Given the description of an element on the screen output the (x, y) to click on. 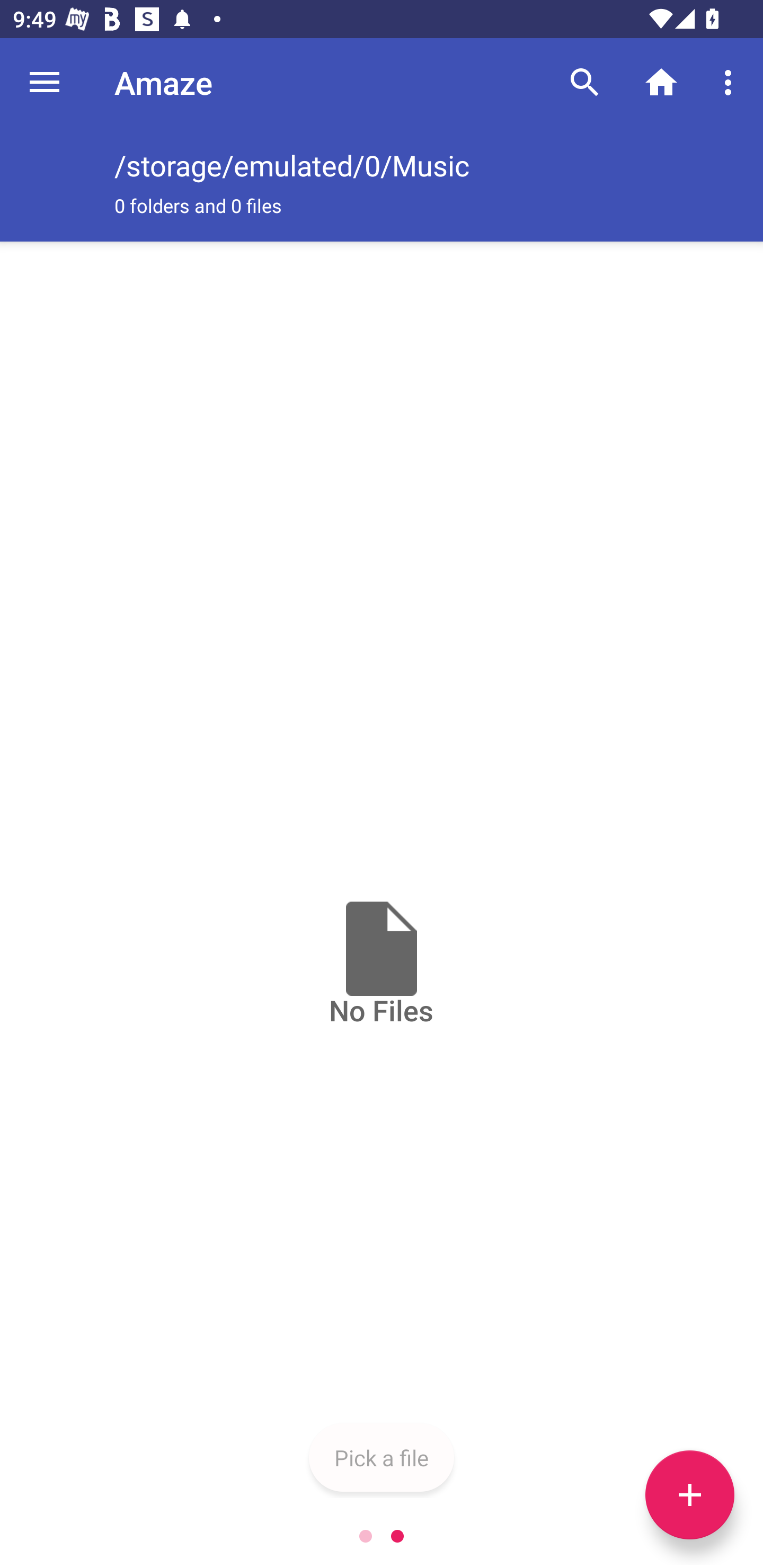
Navigate up (44, 82)
Search (585, 81)
Home (661, 81)
More options (731, 81)
